Given the description of an element on the screen output the (x, y) to click on. 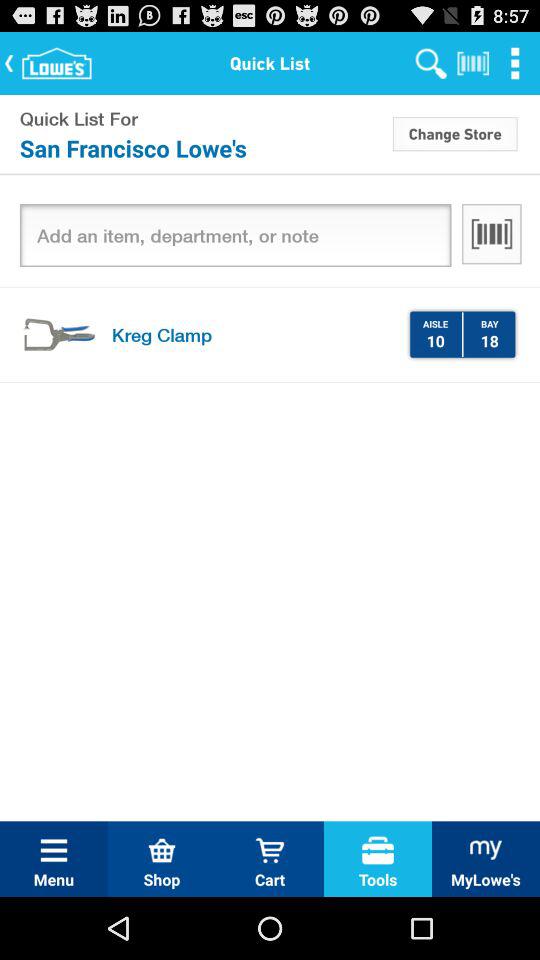
swipe until san francisco lowe icon (204, 147)
